Given the description of an element on the screen output the (x, y) to click on. 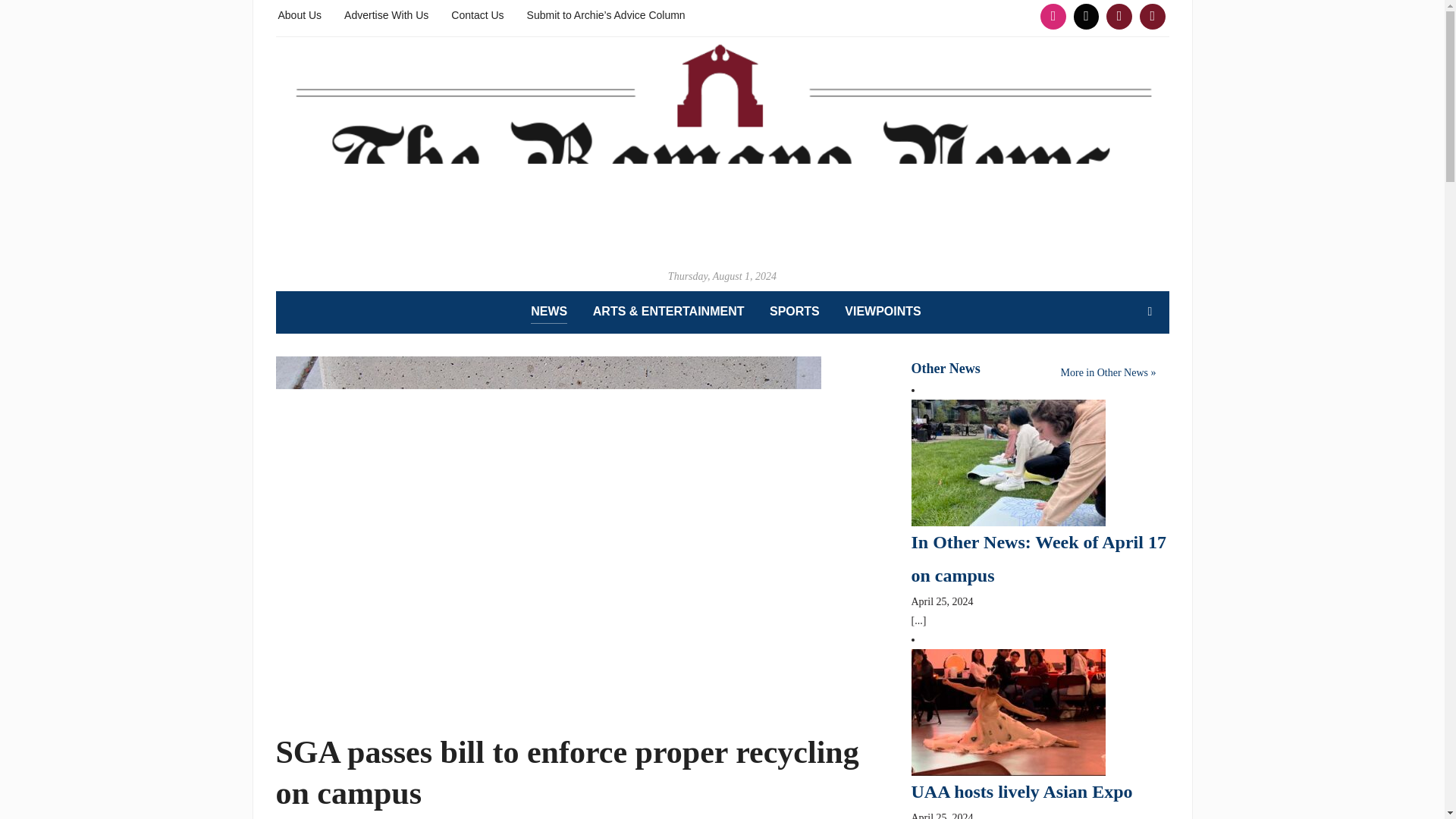
UAA hosts lively Asian Expo (1008, 711)
Search (1149, 311)
Contact Us (477, 14)
Mail (1152, 16)
Mail (1118, 16)
In Other News: Week of April 17 on campus (1038, 558)
Advertise With Us (385, 14)
NEWS (549, 312)
UAA hosts lively Asian Expo (1021, 791)
About Us (299, 14)
Instagram (1053, 16)
In Other News: Week of April 17 on campus (1008, 461)
Tiktok (1086, 16)
